Given the description of an element on the screen output the (x, y) to click on. 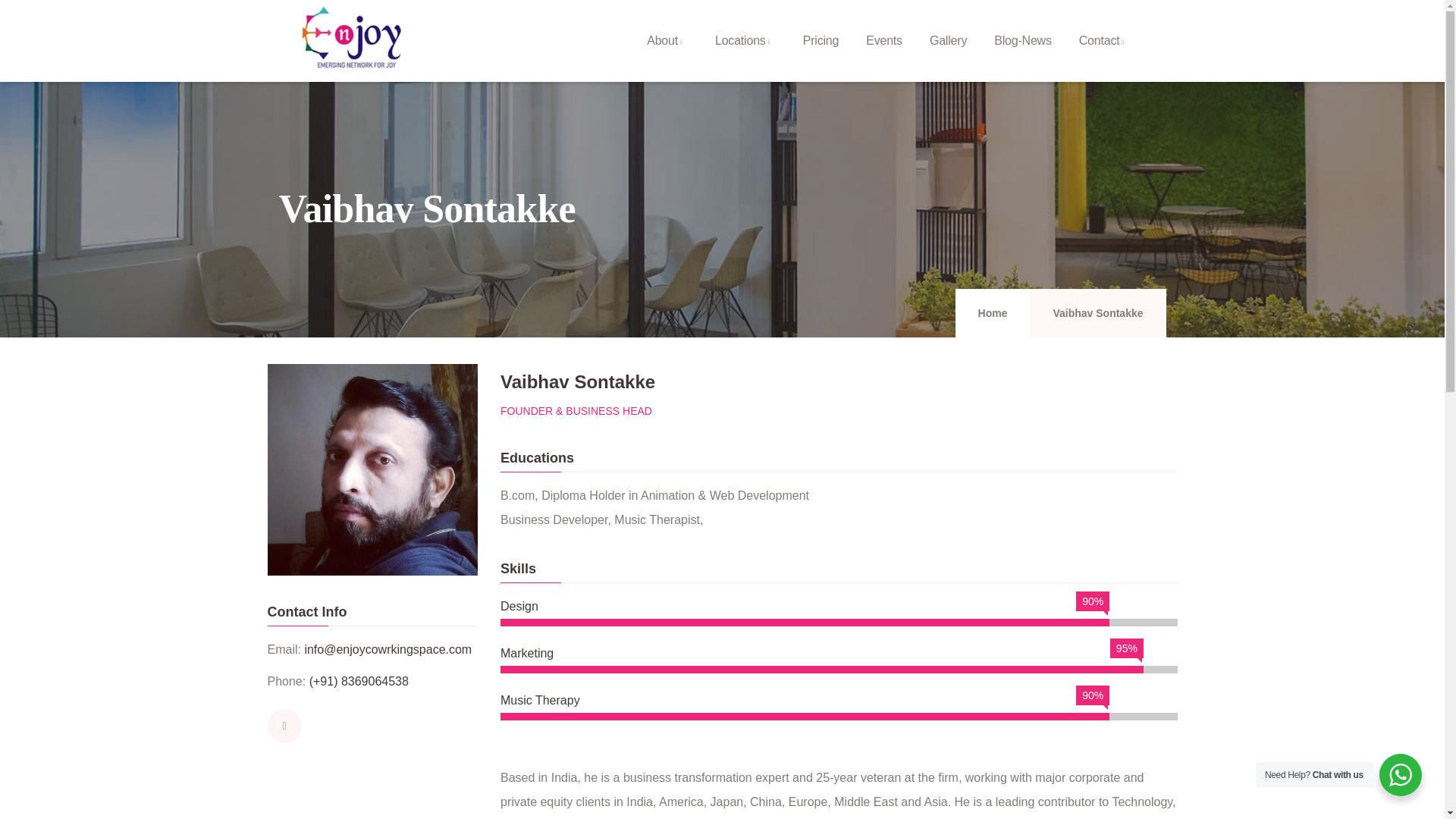
Home (352, 40)
Locations (745, 40)
